Given the description of an element on the screen output the (x, y) to click on. 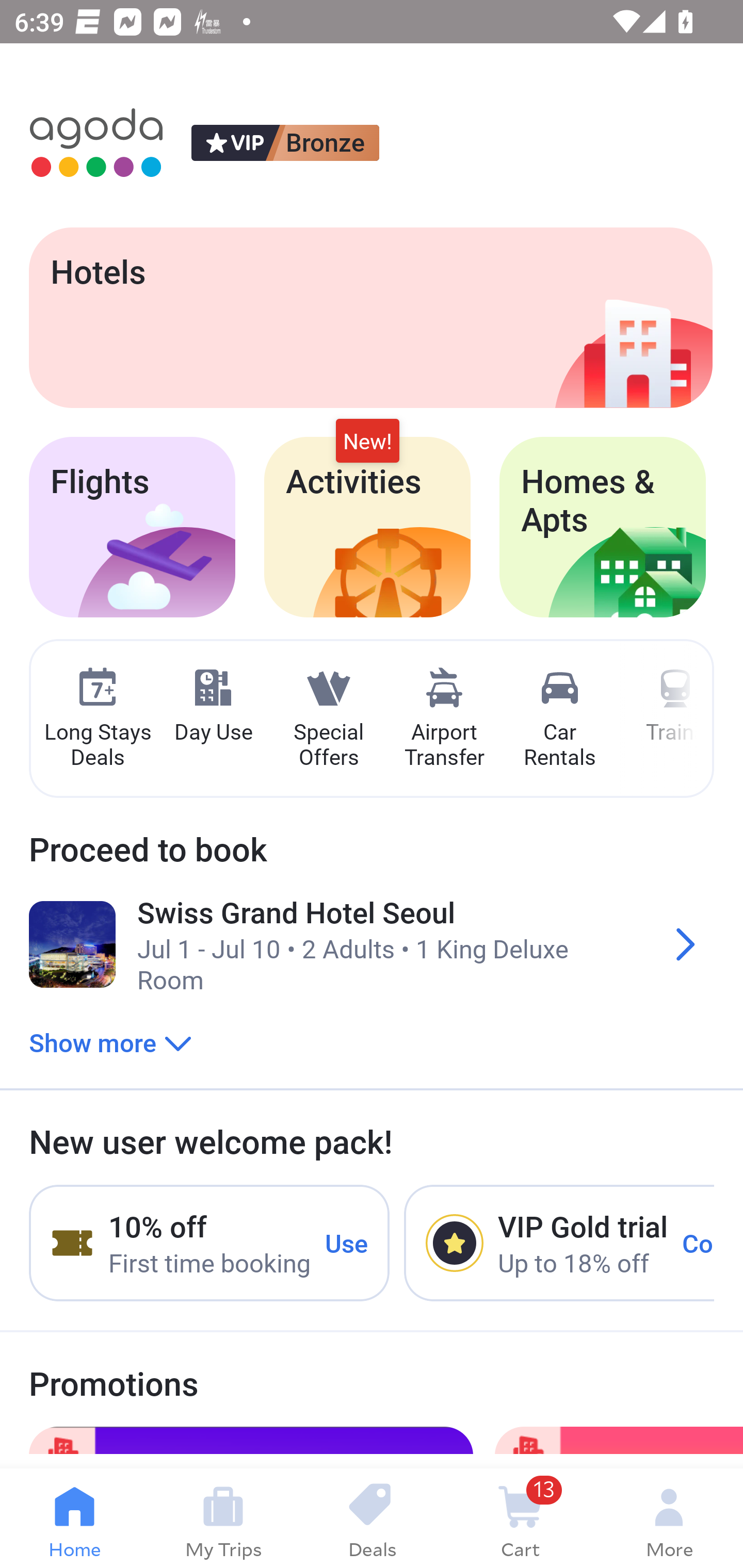
Hotels (370, 317)
New! (367, 441)
Flights (131, 527)
Activities (367, 527)
Homes & Apts (602, 527)
Day Use (213, 706)
Long Stays Deals (97, 718)
Special Offers (328, 718)
Airport Transfer (444, 718)
Car Rentals (559, 718)
Show more (110, 1041)
Use (346, 1242)
Home (74, 1518)
My Trips (222, 1518)
Deals (371, 1518)
13 Cart (519, 1518)
More (668, 1518)
